Given the description of an element on the screen output the (x, y) to click on. 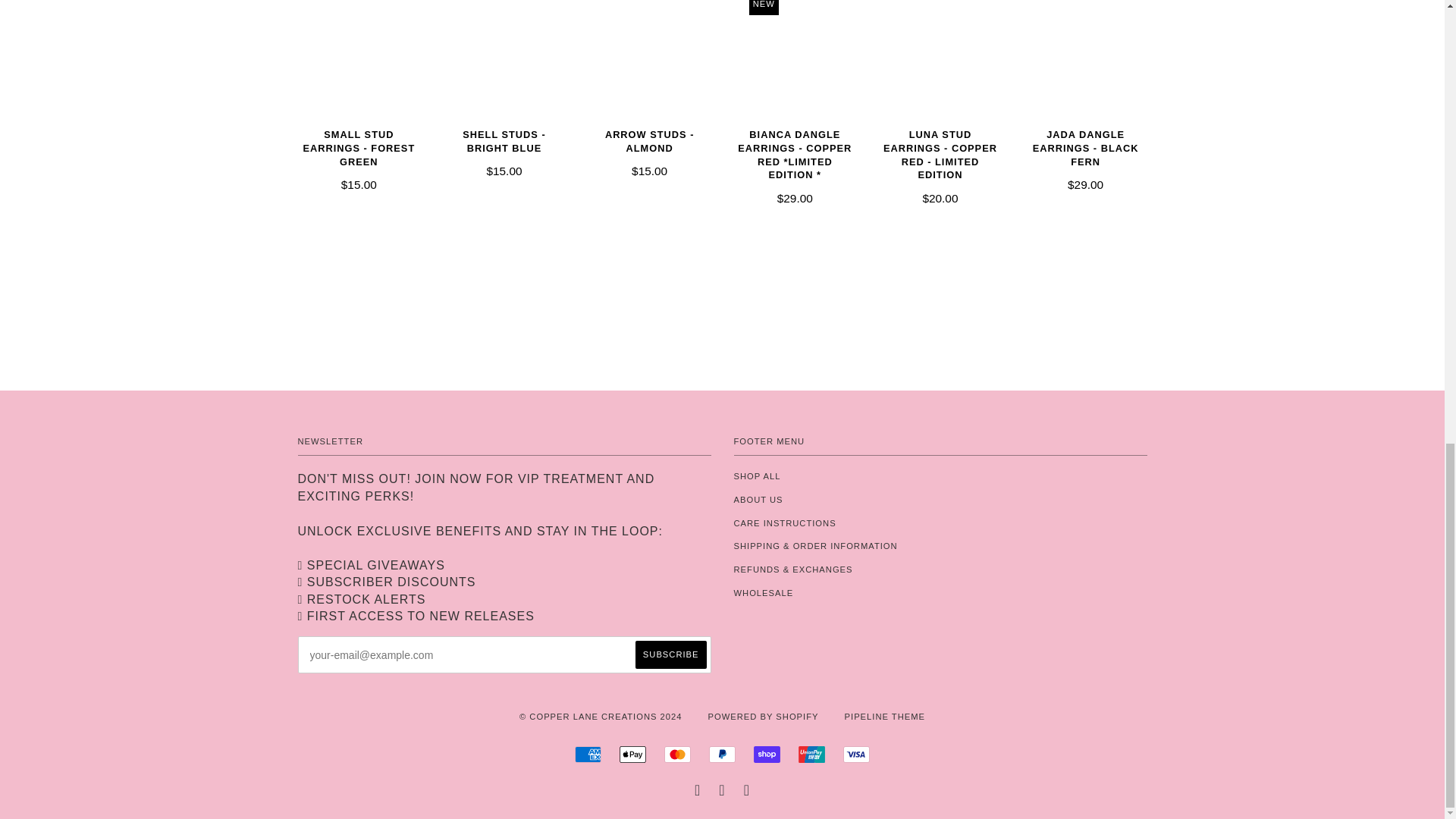
AMERICAN EXPRESS (588, 754)
VISA (856, 754)
Subscribe (670, 654)
SHOP PAY (767, 754)
UNION PAY (811, 754)
MASTERCARD (676, 754)
APPLE PAY (633, 754)
PAYPAL (722, 754)
